Given the description of an element on the screen output the (x, y) to click on. 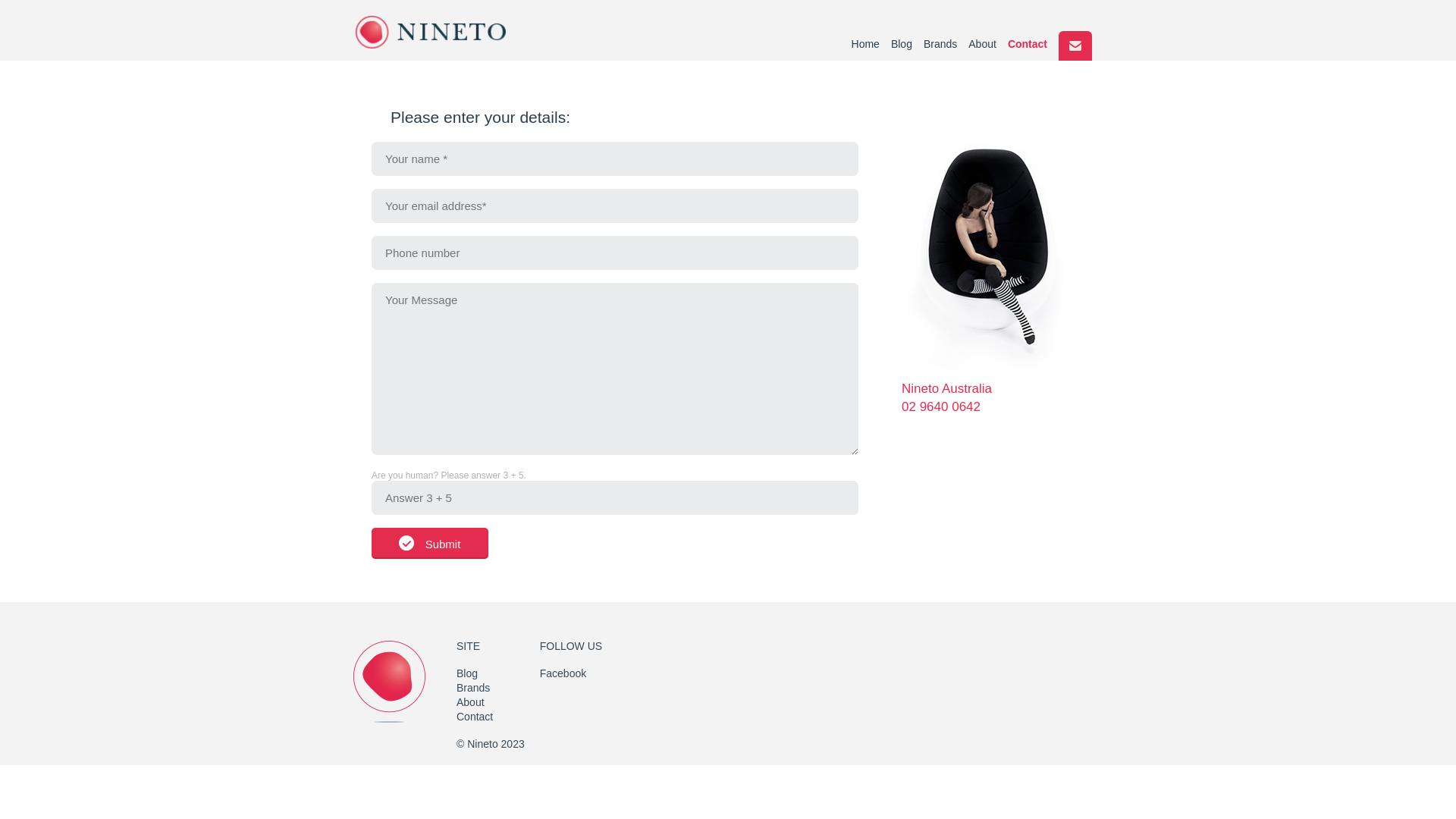
Contact Element type: text (474, 716)
Blog Element type: text (901, 43)
Blog Element type: text (466, 673)
Brands Element type: text (472, 687)
Brands Element type: text (940, 43)
Facebook Element type: text (562, 673)
Submit Element type: text (429, 542)
About Element type: text (470, 702)
About Element type: text (982, 43)
Contact Element type: text (1027, 43)
Home Element type: text (865, 43)
